Given the description of an element on the screen output the (x, y) to click on. 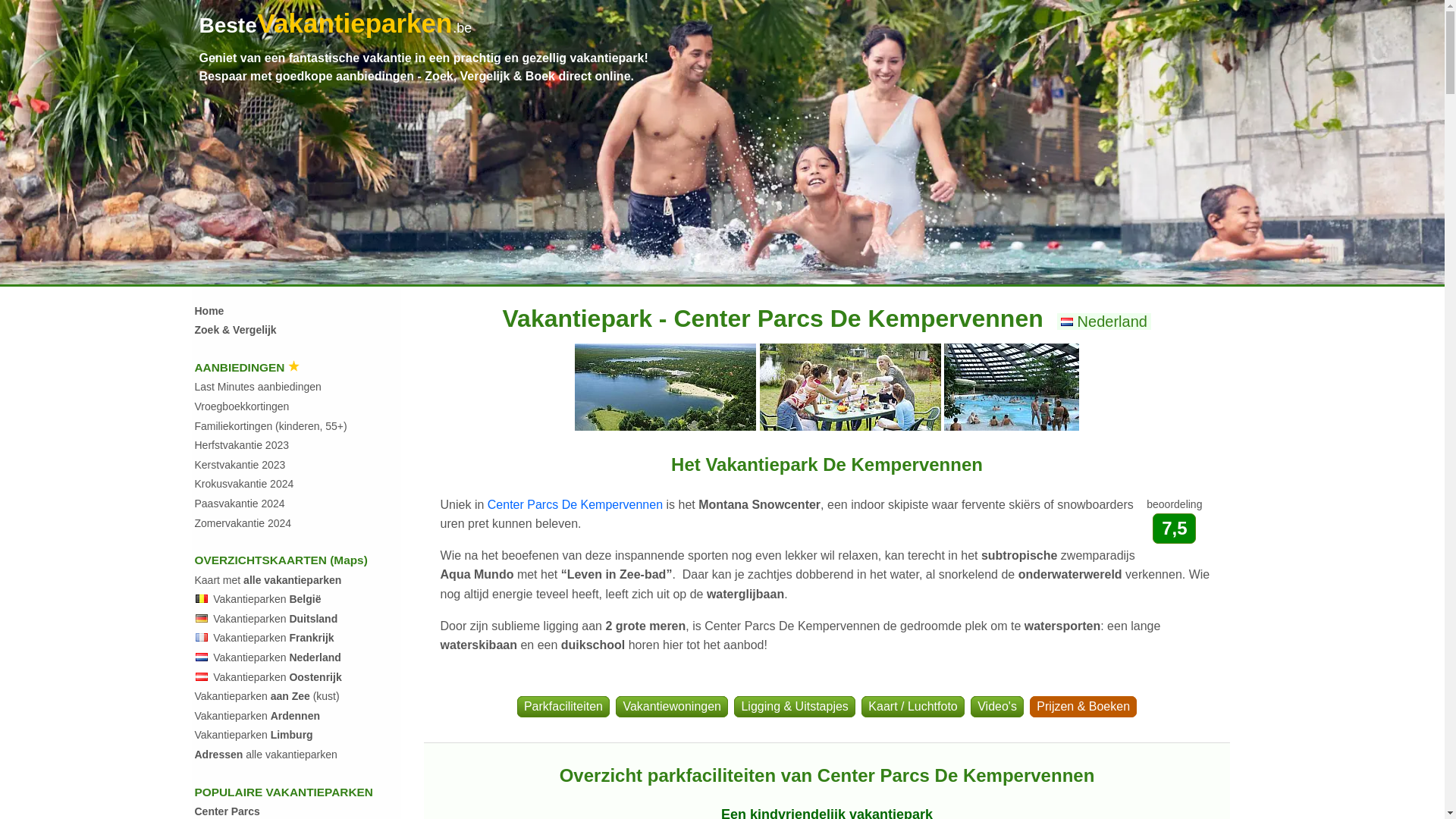
Vakantieparken Ardennen Element type: text (256, 715)
Vakantieparken Oostenrijk Element type: text (277, 677)
Center Parcs Element type: text (226, 811)
Herfstvakantie 2023 Element type: text (241, 445)
Prijzen & Boeken Element type: text (1082, 706)
Beste Vakantieparken .be Element type: text (334, 31)
Home Element type: text (208, 310)
Krokusvakantie 2024 Element type: text (243, 483)
Familiekortingen (kinderen, 55+) Element type: text (270, 426)
Vakantiewoningen Element type: text (671, 706)
Paasvakantie 2024 Element type: text (239, 503)
Ligging & Uitstapjes Element type: text (794, 706)
Zomervakantie 2024 Element type: text (242, 523)
Vakantieparken Limburg Element type: text (253, 734)
Kaart / Luchtfoto Element type: text (912, 706)
Vroegboekkortingen Element type: text (241, 406)
Zoek & Vergelijk Element type: text (235, 329)
Last Minutes aanbiedingen Element type: text (257, 386)
Parkfaciliteiten Element type: text (563, 706)
Vakantieparken Duitsland Element type: text (275, 618)
Kerstvakantie 2023 Element type: text (239, 464)
Vakantieparken Nederland Element type: text (277, 657)
Vakantieparken Frankrijk Element type: text (273, 637)
Kaart met alle vakantieparken Element type: text (267, 580)
Adressen alle vakantieparken Element type: text (265, 754)
Video's Element type: text (996, 706)
Center Parcs De Kempervennen Element type: text (574, 504)
Vakantieparken aan Zee (kust) Element type: text (266, 696)
